Given the description of an element on the screen output the (x, y) to click on. 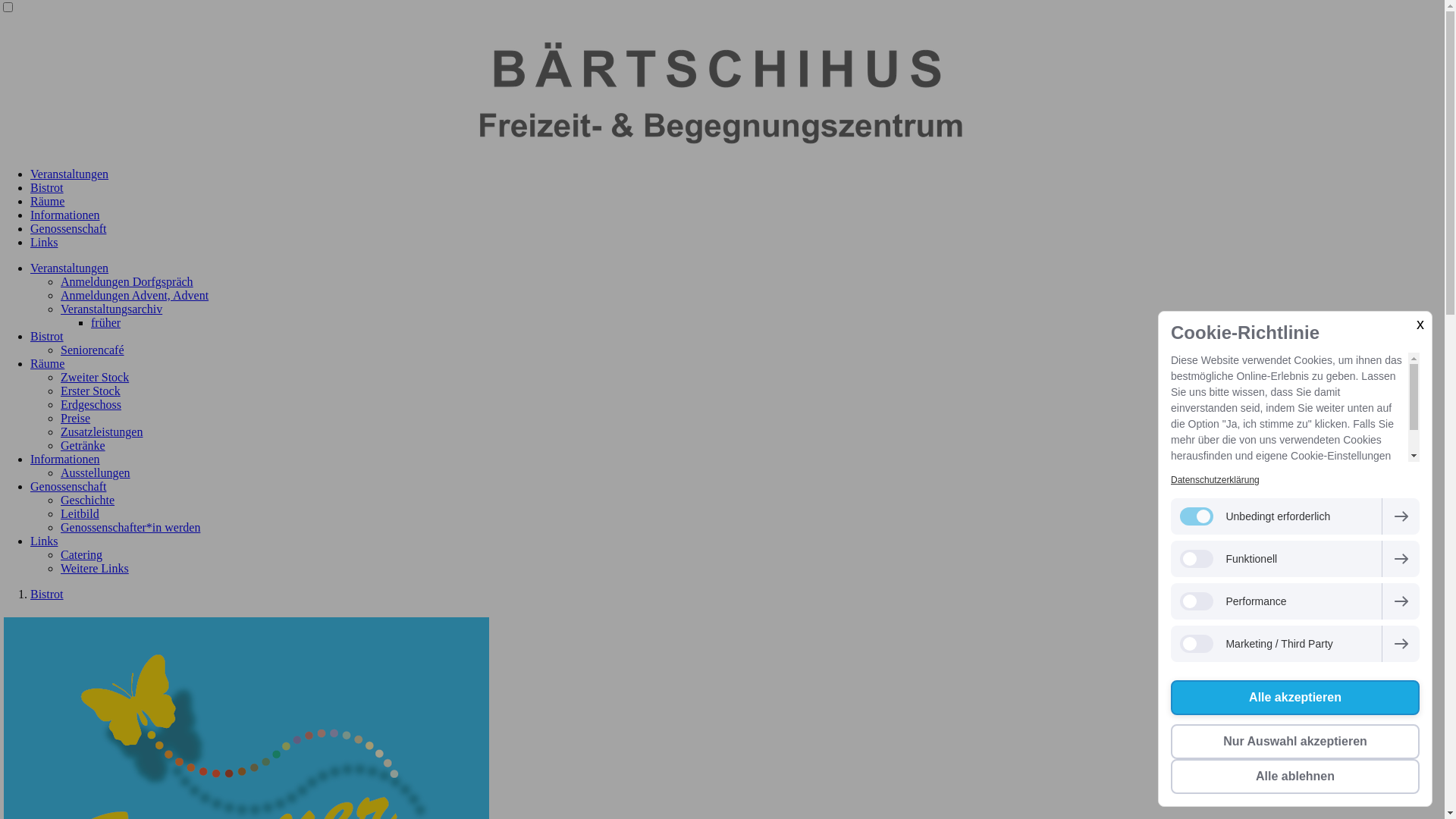
Zusatzleistungen Element type: text (101, 431)
Catering Element type: text (81, 554)
Links Element type: text (43, 540)
Erdgeschoss Element type: text (90, 404)
Informationen Element type: text (65, 458)
Weitere Links Element type: text (94, 567)
Genossenschaft Element type: text (68, 486)
Geschichte Element type: text (87, 499)
Veranstaltungsarchiv Element type: text (111, 308)
Leitbild Element type: text (79, 513)
Genossenschaft Element type: text (68, 228)
Anmeldungen Advent, Advent Element type: text (134, 294)
Bistrot Element type: text (46, 593)
Bistrot Element type: text (46, 335)
Preise Element type: text (75, 417)
Bistrot Element type: text (46, 187)
Links Element type: text (43, 241)
Veranstaltungen Element type: text (69, 267)
Genossenschafter*in werden Element type: text (130, 526)
Erster Stock Element type: text (90, 390)
Informationen Element type: text (65, 214)
Veranstaltungen Element type: text (69, 173)
Zweiter Stock Element type: text (94, 376)
Alle akzeptieren Element type: text (1294, 697)
Ausstellungen Element type: text (95, 472)
Alle ablehnen Element type: text (1294, 776)
Nur Auswahl akzeptieren Element type: text (1294, 741)
